Given the description of an element on the screen output the (x, y) to click on. 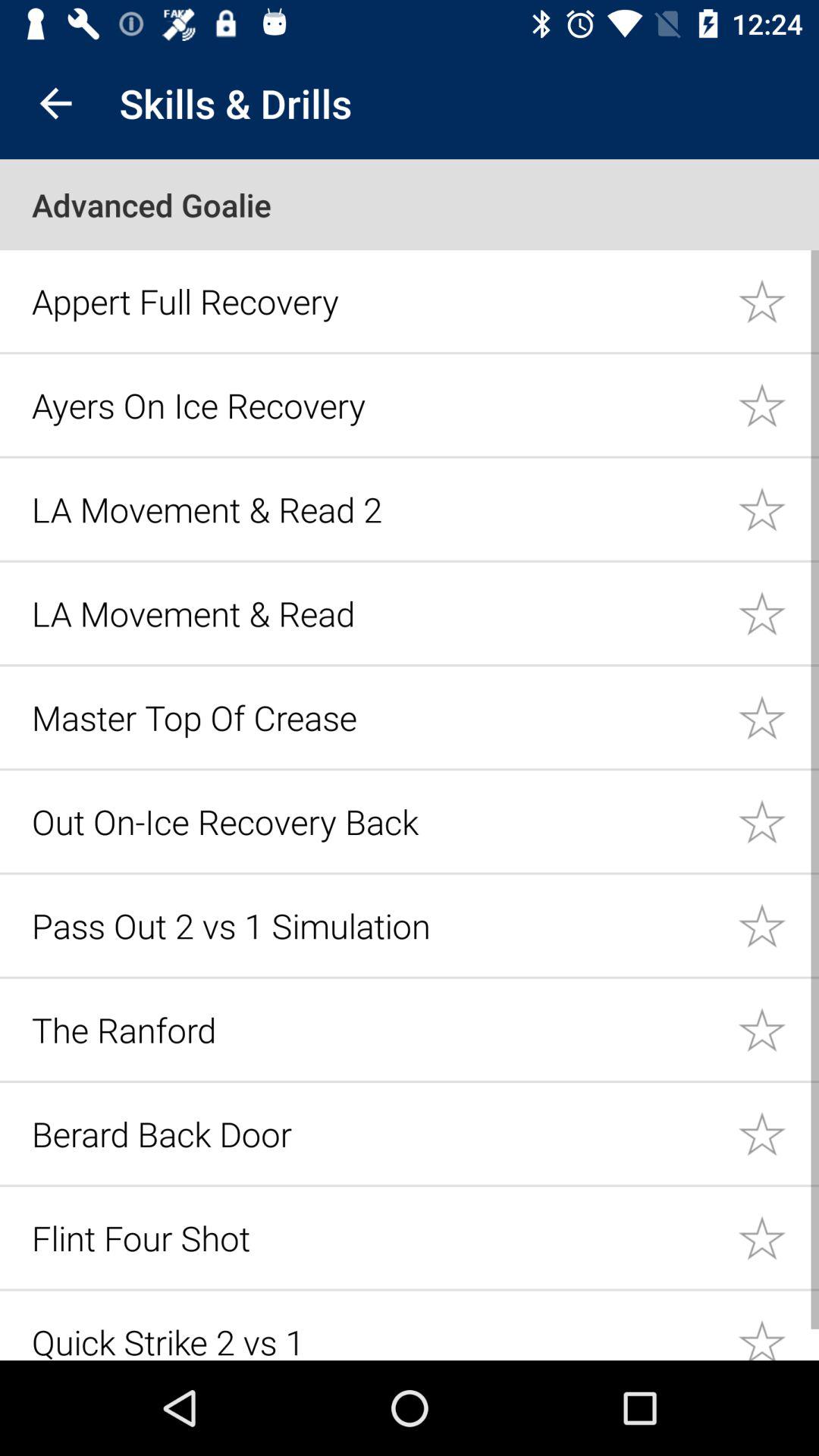
add favorite (778, 1029)
